Given the description of an element on the screen output the (x, y) to click on. 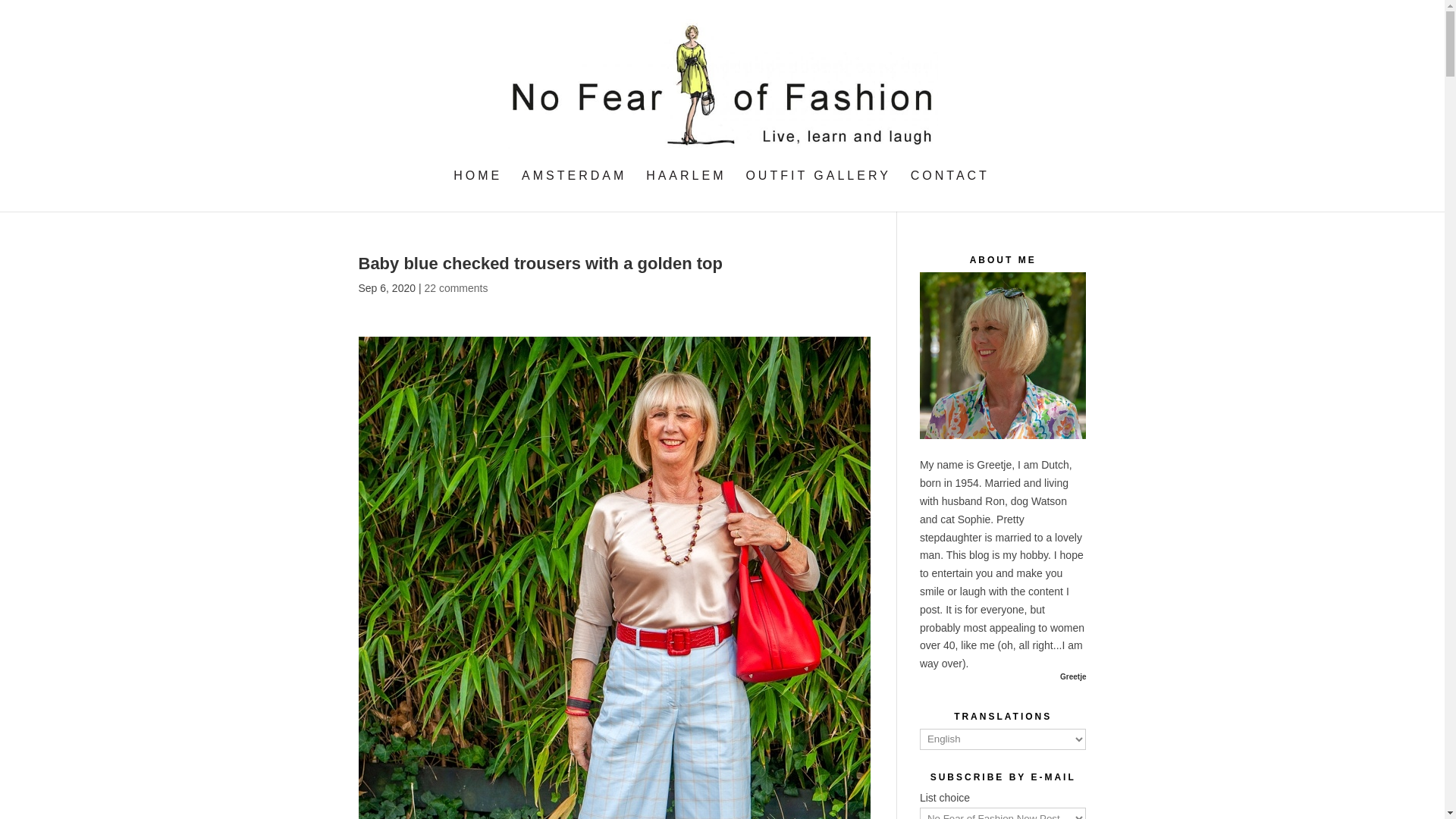
22 comments (455, 287)
CONTACT (950, 190)
AMSTERDAM (573, 190)
OUTFIT GALLERY (817, 190)
HAARLEM (685, 190)
HOME (477, 190)
